Given the description of an element on the screen output the (x, y) to click on. 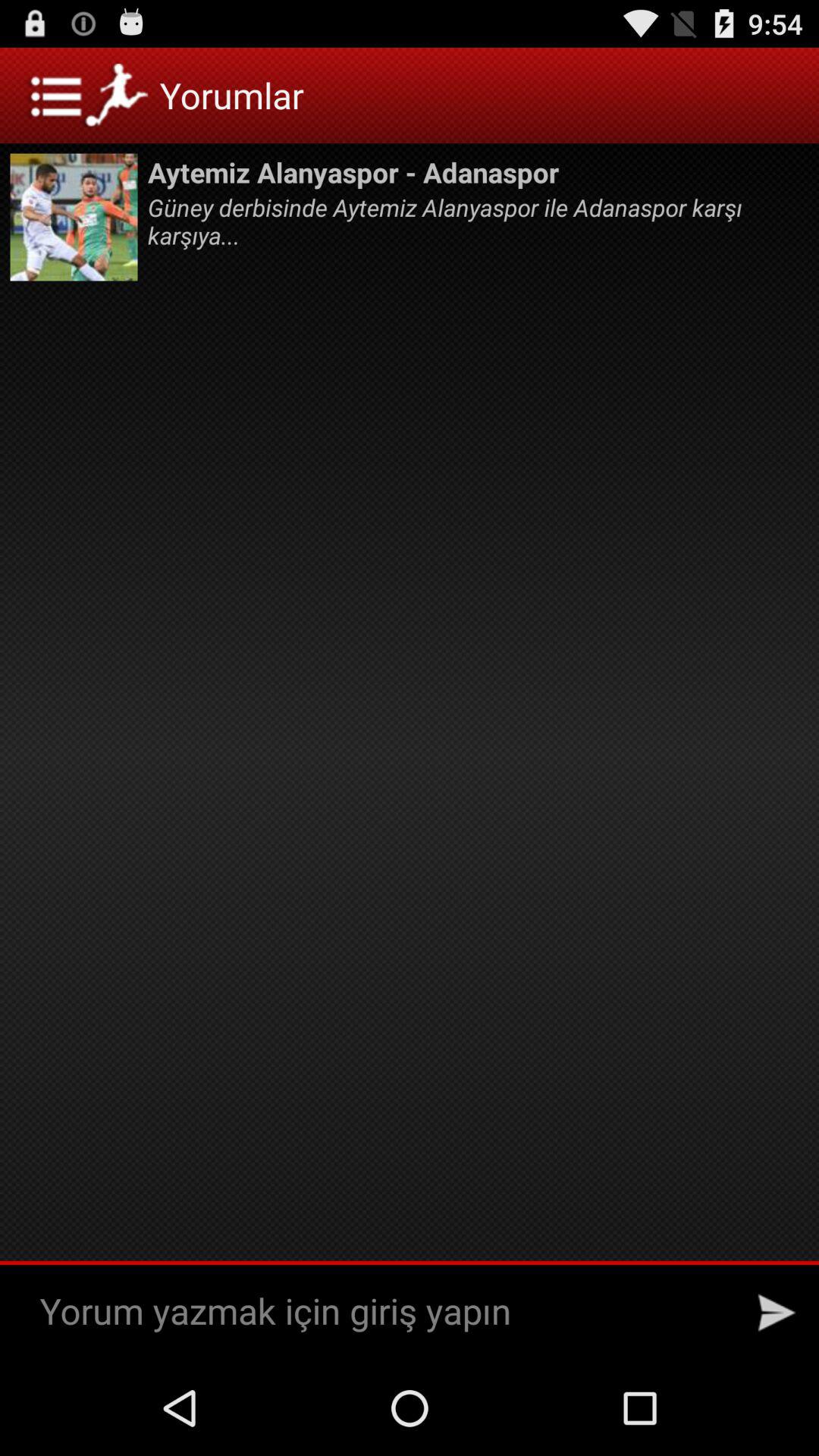
click the icon at the center (409, 785)
